Given the description of an element on the screen output the (x, y) to click on. 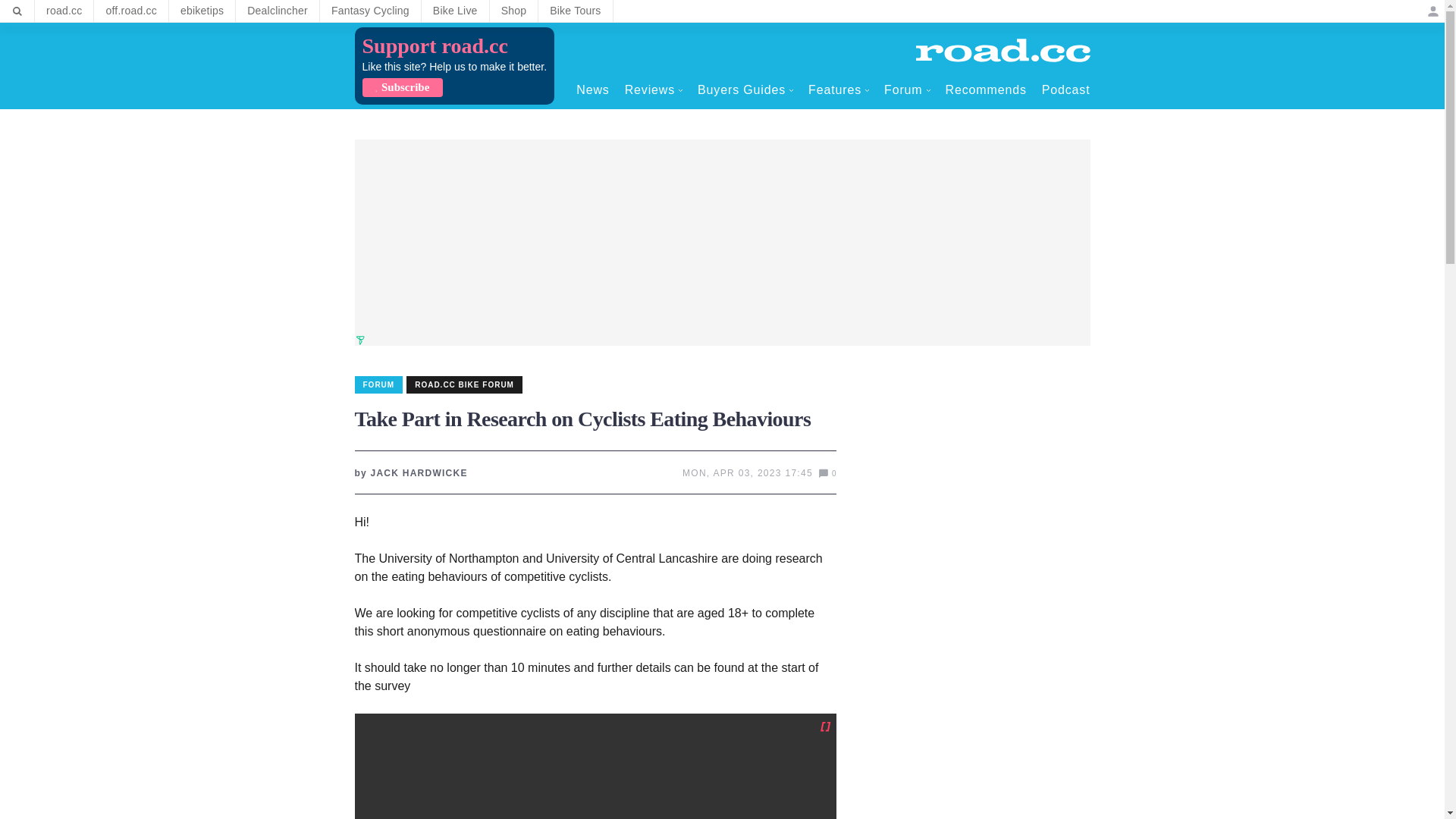
Subscribe (402, 87)
ebiketips (201, 11)
Fantasy Cycling (370, 11)
off.road.cc (131, 11)
Shop (513, 11)
Bike Tours (574, 11)
Bike Live (455, 11)
Home (1002, 50)
Dealclincher (276, 11)
road.cc (63, 11)
Reviews (653, 89)
